Given the description of an element on the screen output the (x, y) to click on. 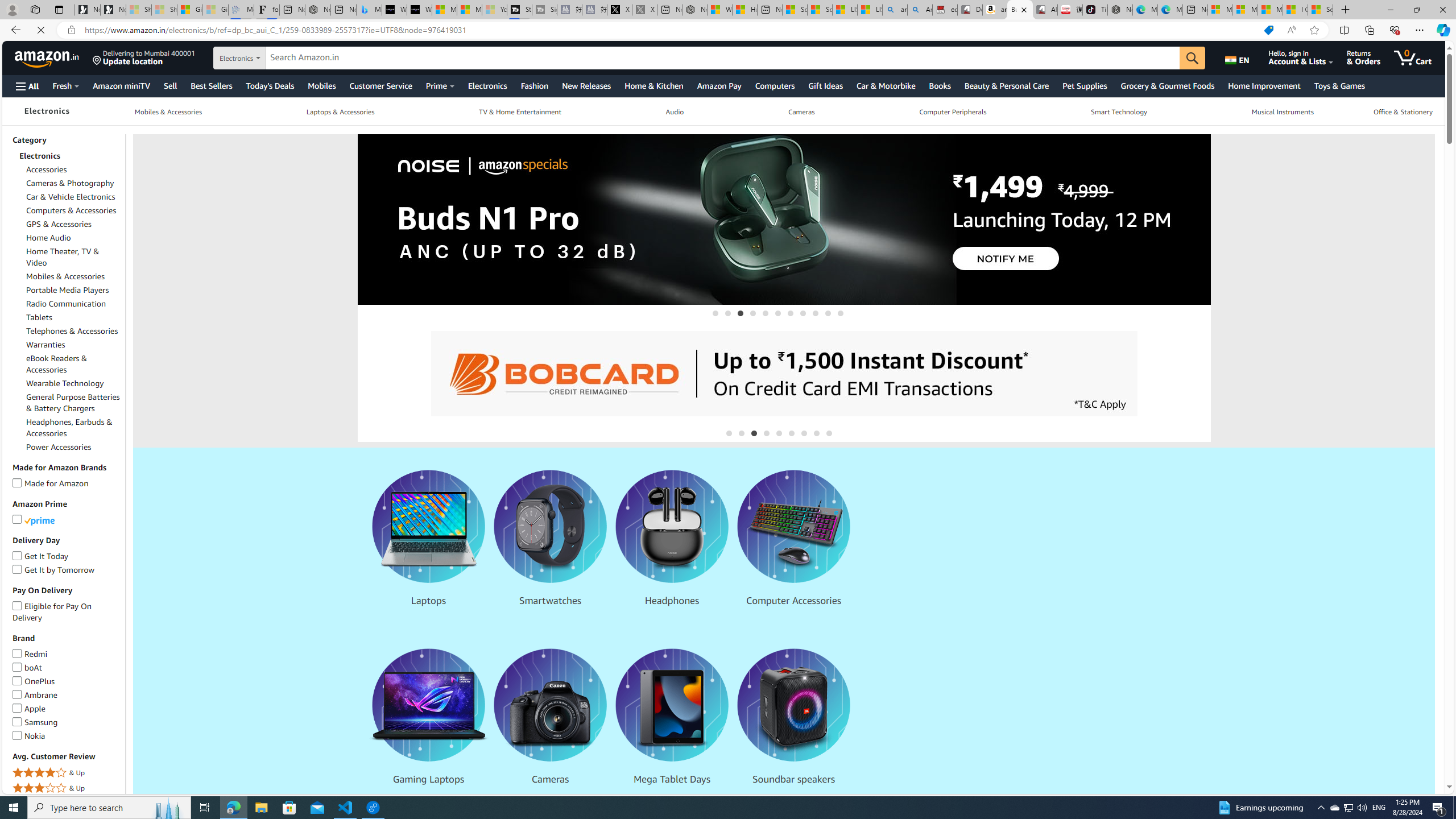
Search in (270, 56)
Sell (169, 85)
amazon - Search (894, 9)
TikTok (1094, 9)
Microsoft Start Sports (443, 9)
Home & Kitchen (653, 85)
App bar (728, 29)
Pet Supplies (1084, 85)
Choose a language for shopping. (1243, 57)
Go (1196, 57)
Open Menu (26, 86)
Nordace - #1 Japanese Best-Seller - Siena Smart Backpack (316, 9)
